Given the description of an element on the screen output the (x, y) to click on. 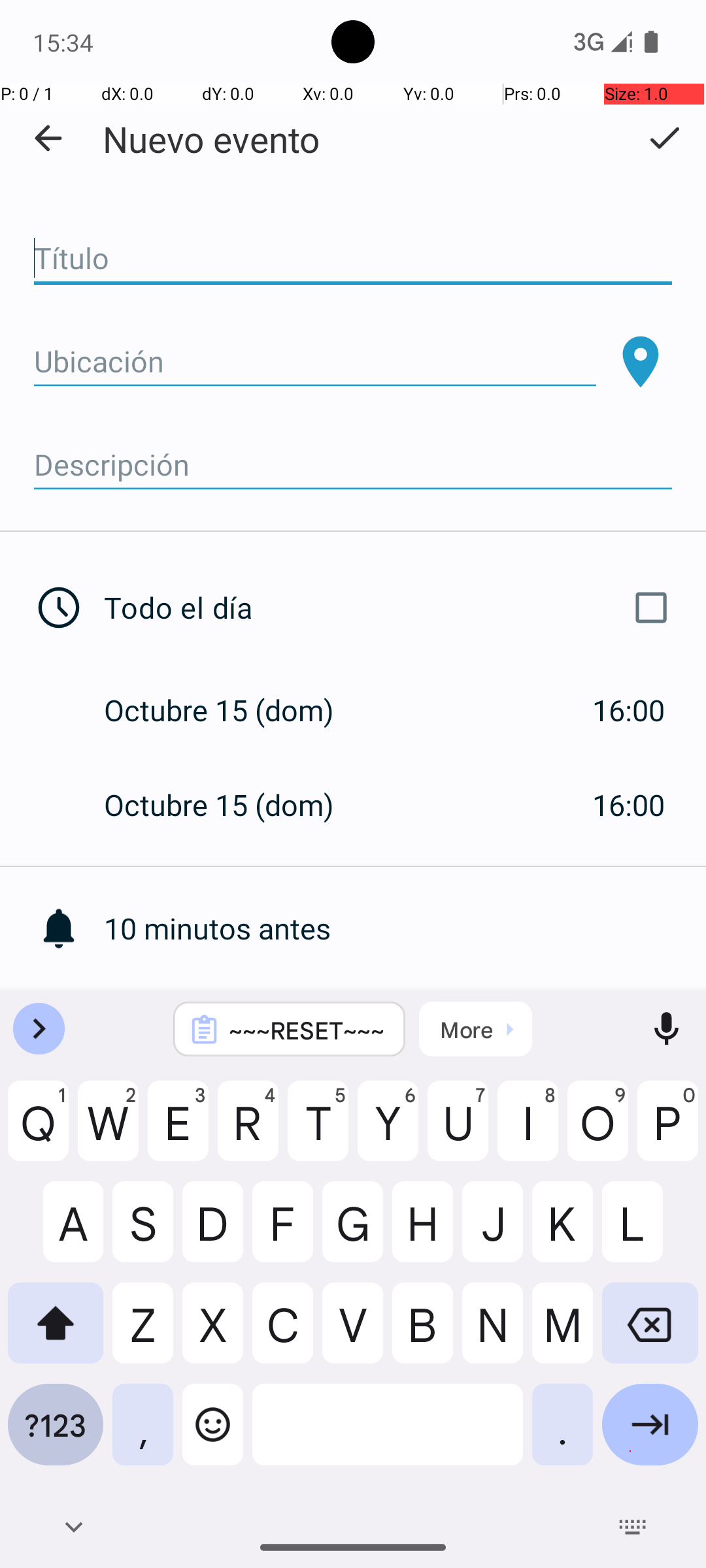
Guardar Element type: android.widget.Button (664, 137)
Título Element type: android.widget.EditText (352, 258)
Ubicación Element type: android.widget.EditText (314, 361)
Descripción Element type: android.widget.EditText (352, 465)
Octubre 15 (dom) Element type: android.widget.TextView (232, 709)
16:00 Element type: android.widget.TextView (628, 709)
10 minutos antes Element type: android.widget.TextView (404, 927)
Agregar otro recordatorio Element type: android.widget.TextView (404, 1022)
Todo el día Element type: android.widget.CheckBox (390, 607)
